Given the description of an element on the screen output the (x, y) to click on. 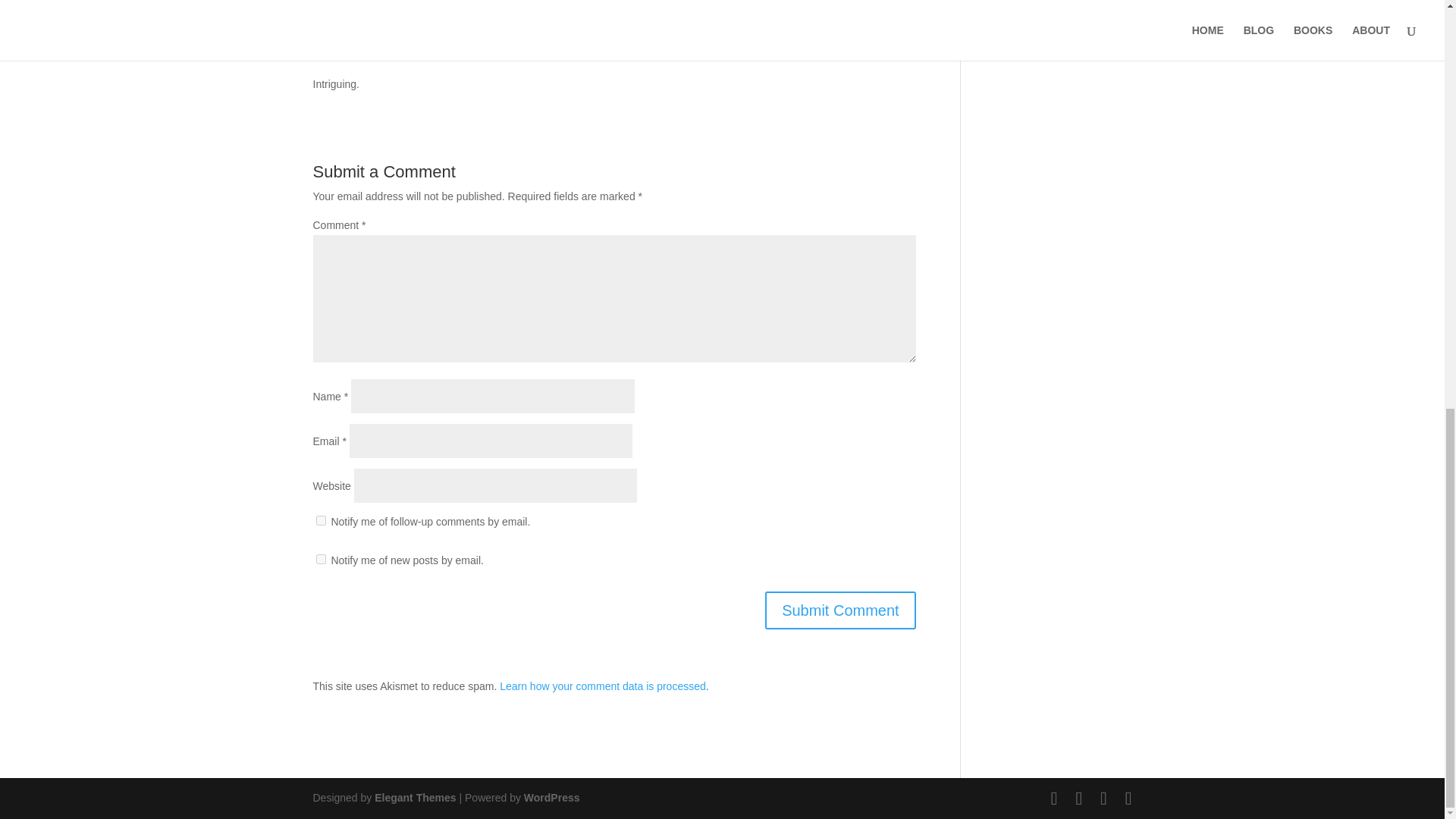
Submit Comment (840, 610)
Learn how your comment data is processed (602, 686)
subscribe (319, 559)
Premium WordPress Themes (414, 797)
WordPress (551, 797)
Elegant Themes (414, 797)
subscribe (319, 520)
Submit Comment (840, 610)
